Given the description of an element on the screen output the (x, y) to click on. 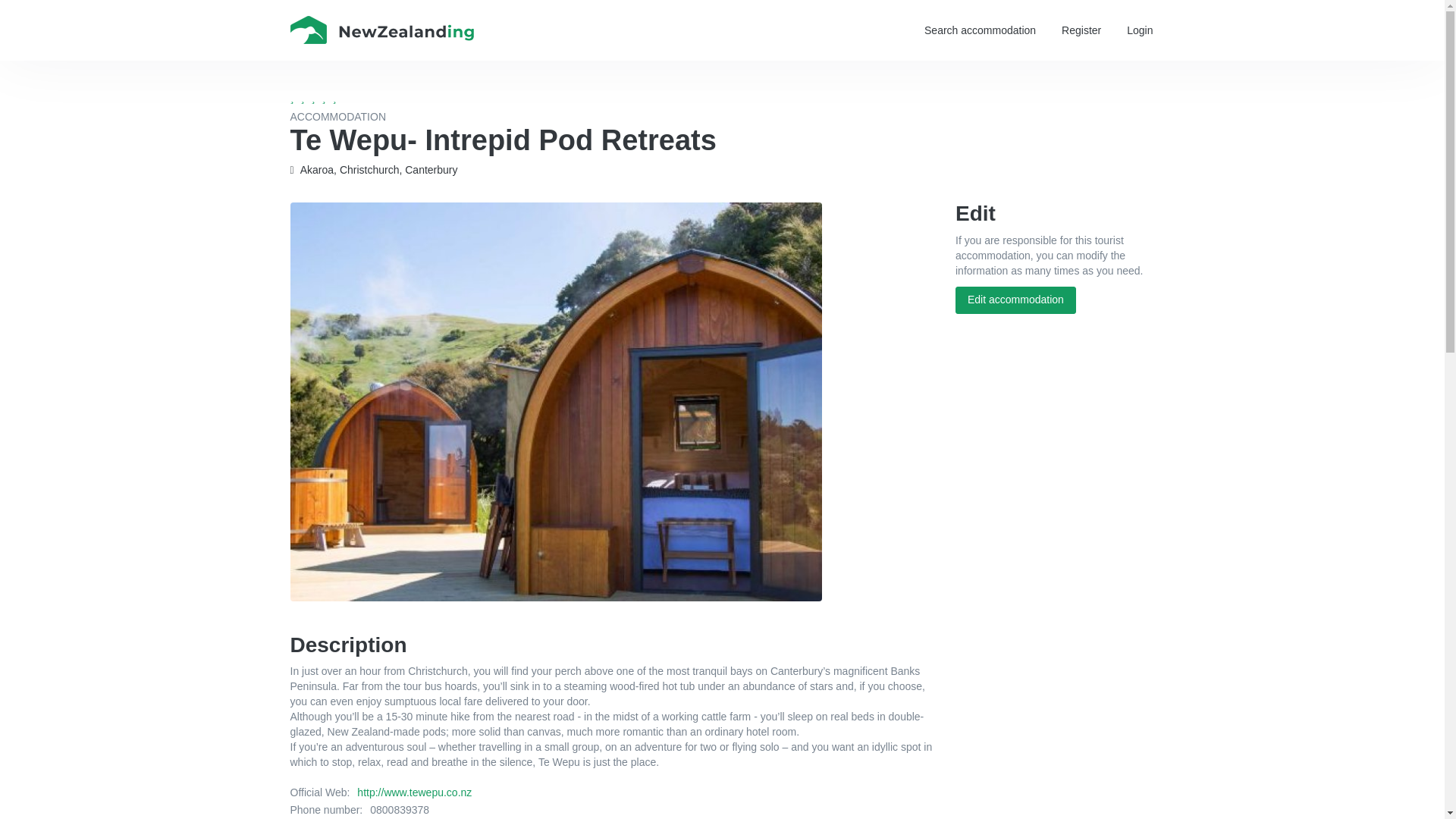
Search accommodation (979, 30)
Register (1080, 30)
Edit accommodation (1015, 299)
Login (1139, 30)
